Given the description of an element on the screen output the (x, y) to click on. 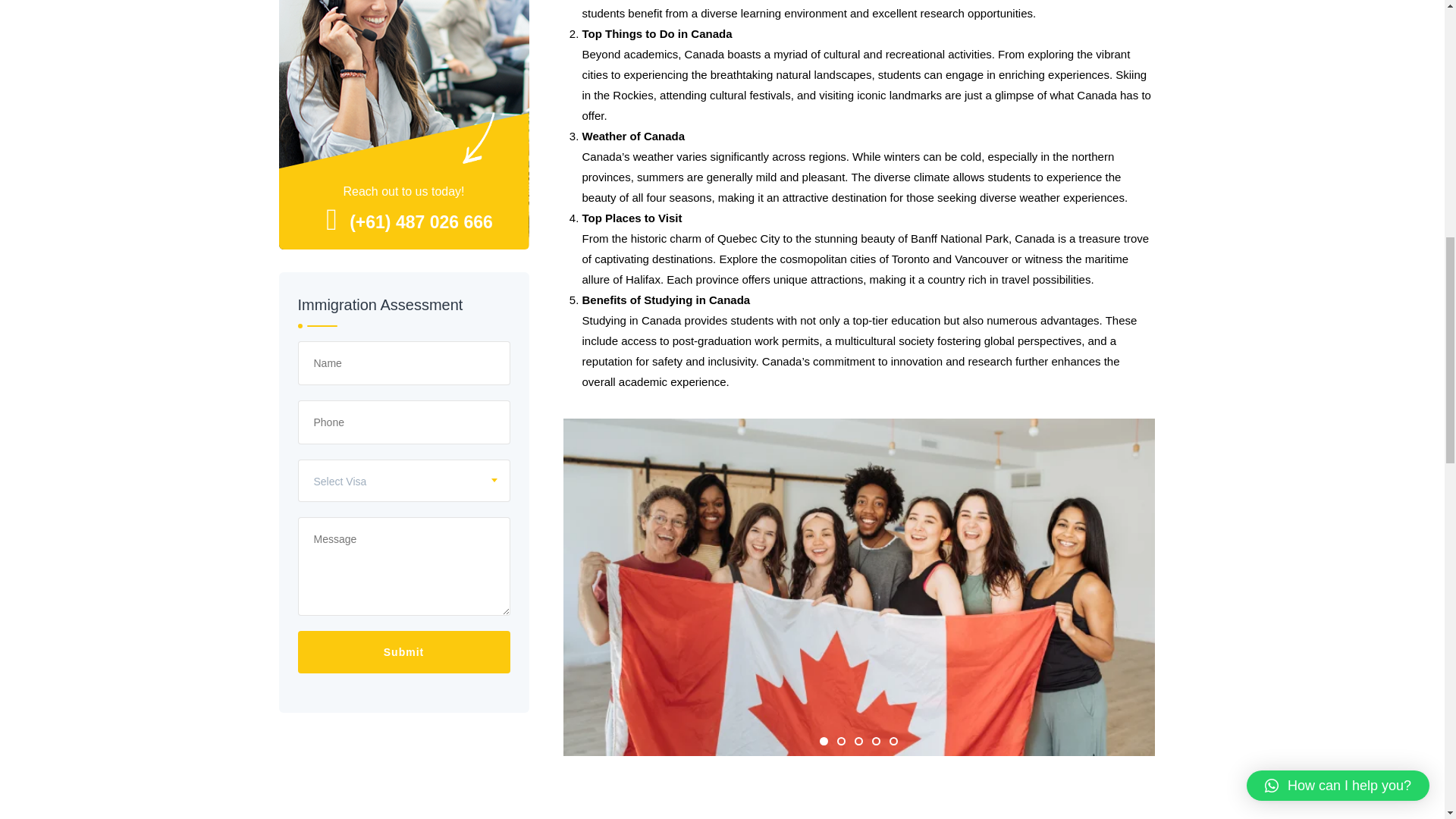
Select Visa (403, 481)
Submit (403, 652)
